Given the description of an element on the screen output the (x, y) to click on. 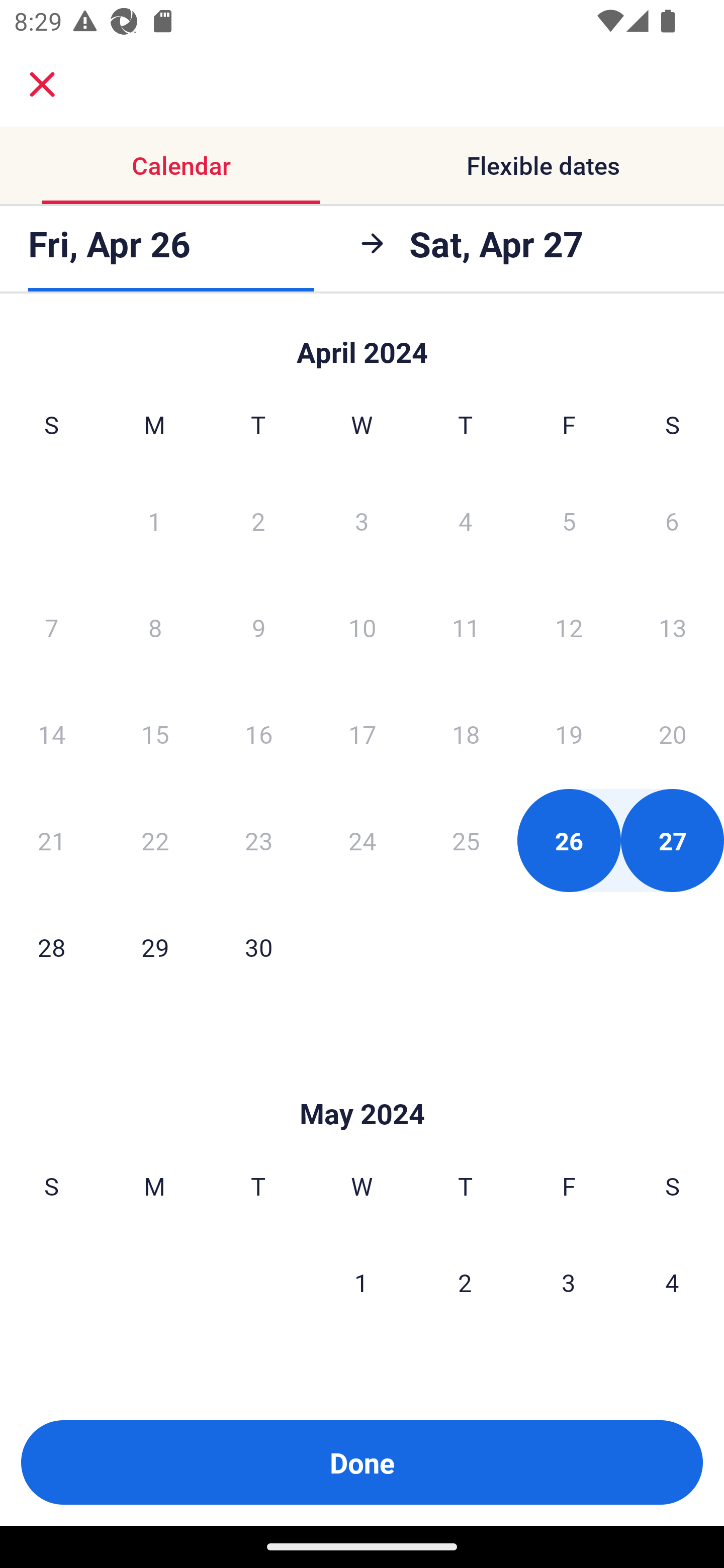
close. (42, 84)
Flexible dates (542, 164)
Skip to Done (362, 343)
1 Monday, April 1, 2024 (154, 520)
2 Tuesday, April 2, 2024 (257, 520)
3 Wednesday, April 3, 2024 (361, 520)
4 Thursday, April 4, 2024 (465, 520)
5 Friday, April 5, 2024 (568, 520)
6 Saturday, April 6, 2024 (672, 520)
7 Sunday, April 7, 2024 (51, 626)
8 Monday, April 8, 2024 (155, 626)
9 Tuesday, April 9, 2024 (258, 626)
10 Wednesday, April 10, 2024 (362, 626)
11 Thursday, April 11, 2024 (465, 626)
12 Friday, April 12, 2024 (569, 626)
13 Saturday, April 13, 2024 (672, 626)
14 Sunday, April 14, 2024 (51, 733)
15 Monday, April 15, 2024 (155, 733)
16 Tuesday, April 16, 2024 (258, 733)
17 Wednesday, April 17, 2024 (362, 733)
18 Thursday, April 18, 2024 (465, 733)
19 Friday, April 19, 2024 (569, 733)
20 Saturday, April 20, 2024 (672, 733)
21 Sunday, April 21, 2024 (51, 840)
22 Monday, April 22, 2024 (155, 840)
23 Tuesday, April 23, 2024 (258, 840)
24 Wednesday, April 24, 2024 (362, 840)
25 Thursday, April 25, 2024 (465, 840)
28 Sunday, April 28, 2024 (51, 946)
29 Monday, April 29, 2024 (155, 946)
30 Tuesday, April 30, 2024 (258, 946)
Skip to Done (362, 1083)
1 Wednesday, May 1, 2024 (361, 1282)
2 Thursday, May 2, 2024 (464, 1282)
3 Friday, May 3, 2024 (568, 1282)
4 Saturday, May 4, 2024 (672, 1282)
Done (361, 1462)
